Given the description of an element on the screen output the (x, y) to click on. 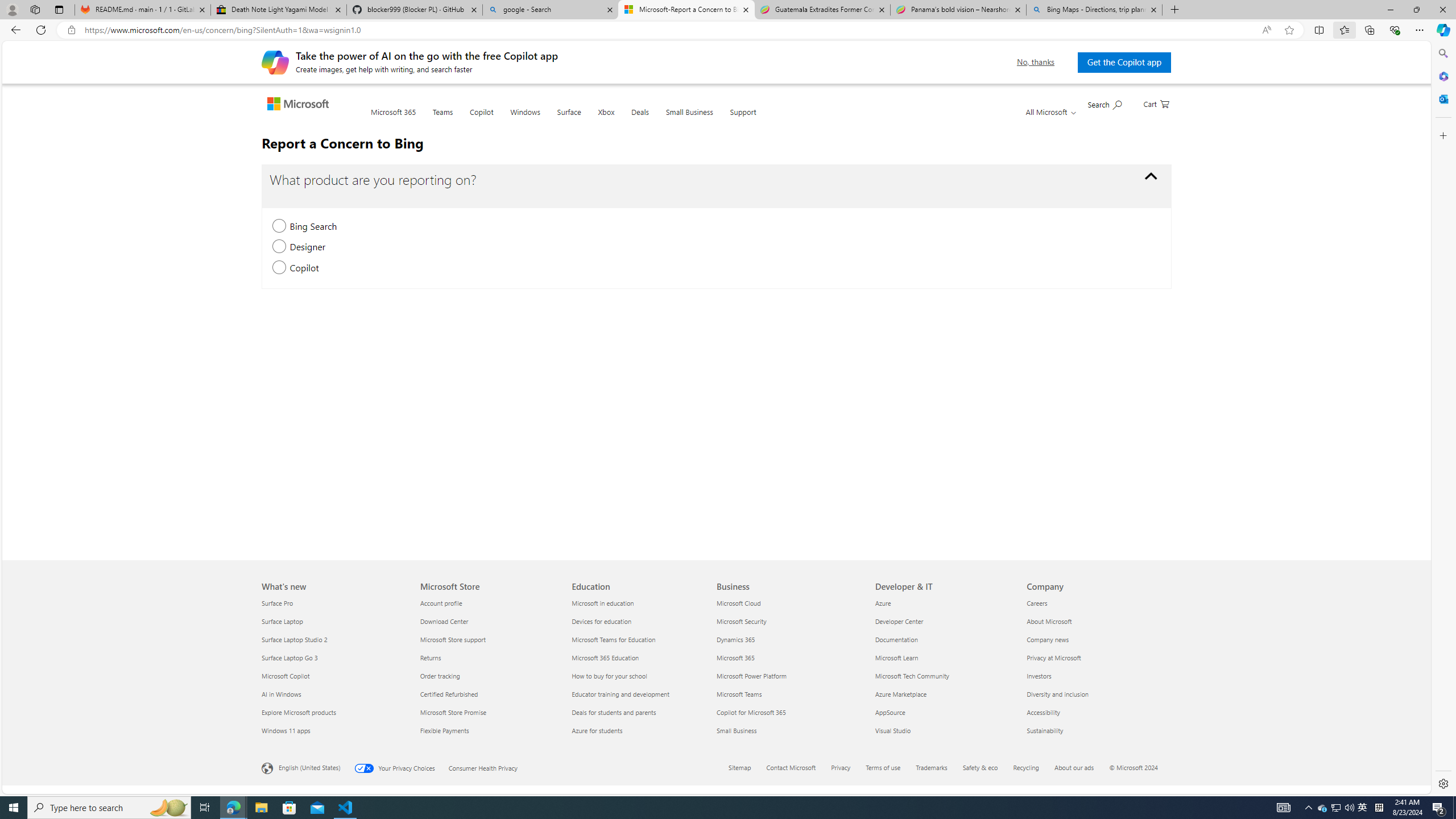
Small Business (689, 118)
Deals for students and parents Education (614, 711)
Microsoft Store Promise Microsoft Store (452, 711)
Address and search bar (669, 29)
Surface Laptop Studio 2 (334, 638)
Contact Microsoft (797, 768)
Consumer Health Privacy (489, 766)
Microsoft Teams (788, 693)
Sitemap (739, 766)
Azure for students Education (597, 729)
Microsoft Learn Developer & IT (896, 656)
Privacy (847, 768)
Surface Pro (334, 602)
Microsoft Tech Community Developer & IT (912, 675)
